Given the description of an element on the screen output the (x, y) to click on. 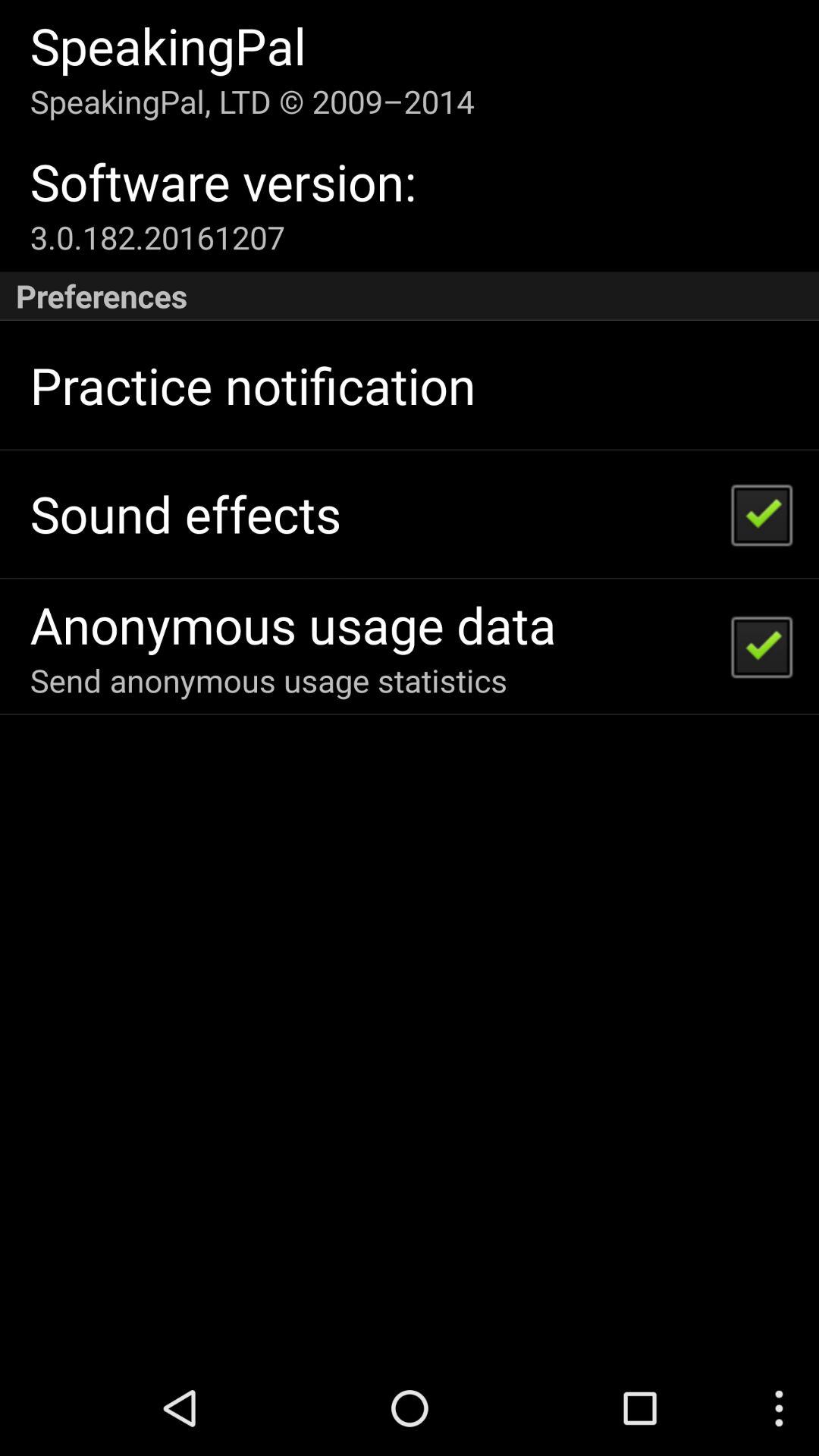
turn on item below software version: (157, 236)
